Given the description of an element on the screen output the (x, y) to click on. 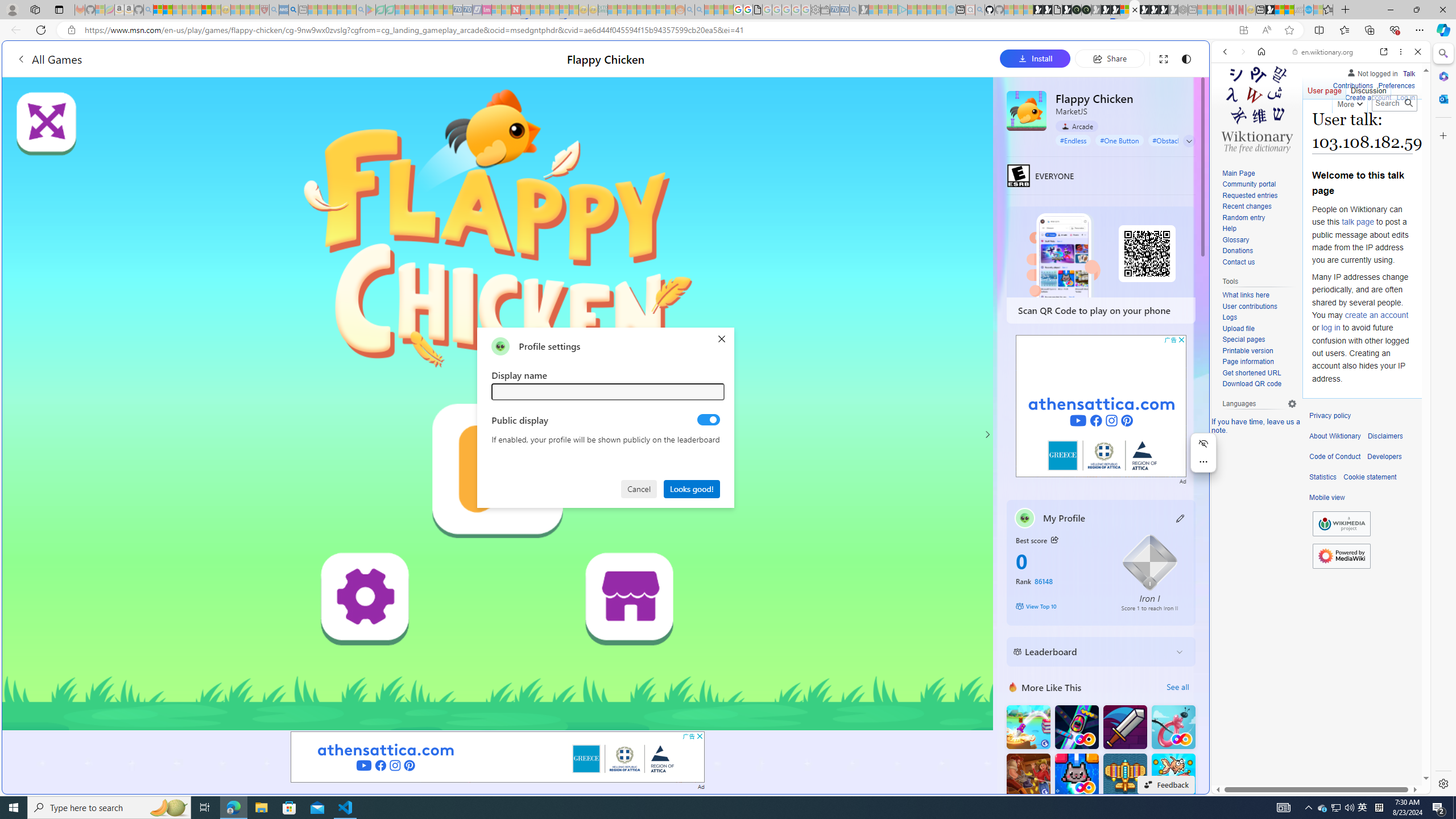
Trusted Community Engagement and Contributions | Guidelines (525, 9)
Play Free Online Games | Games from Microsoft Start (1144, 9)
Wikimedia Foundation (1341, 524)
Talk (1408, 73)
User contributions (1248, 306)
Developers (1384, 456)
More Like This (1012, 686)
Class: expand-arrow neutral (1188, 141)
utah sues federal government - Search (292, 9)
Microsoft Start - Sleeping (930, 9)
Wikimedia Foundation (1341, 523)
